Given the description of an element on the screen output the (x, y) to click on. 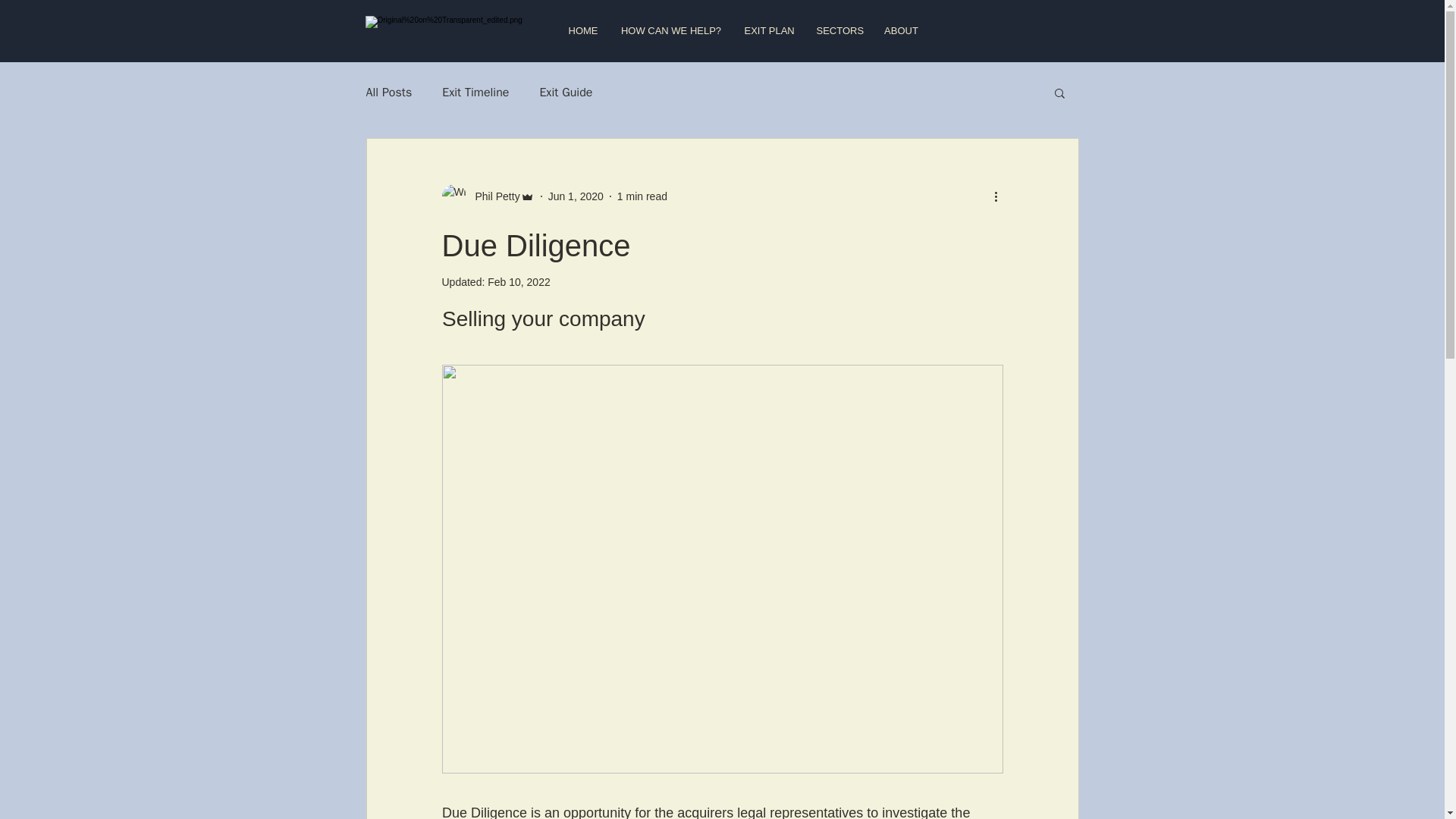
SECTORS (838, 30)
Original on Transparent.png (447, 30)
Jun 1, 2020 (576, 195)
Exit Guide (565, 92)
EXIT PLAN (768, 30)
ABOUT (901, 30)
1 min read (641, 195)
Feb 10, 2022 (518, 282)
All Posts (388, 92)
Phil Petty (487, 196)
HOW CAN WE HELP? (671, 30)
HOME (582, 30)
Exit Timeline (475, 92)
Phil Petty (492, 195)
